Given the description of an element on the screen output the (x, y) to click on. 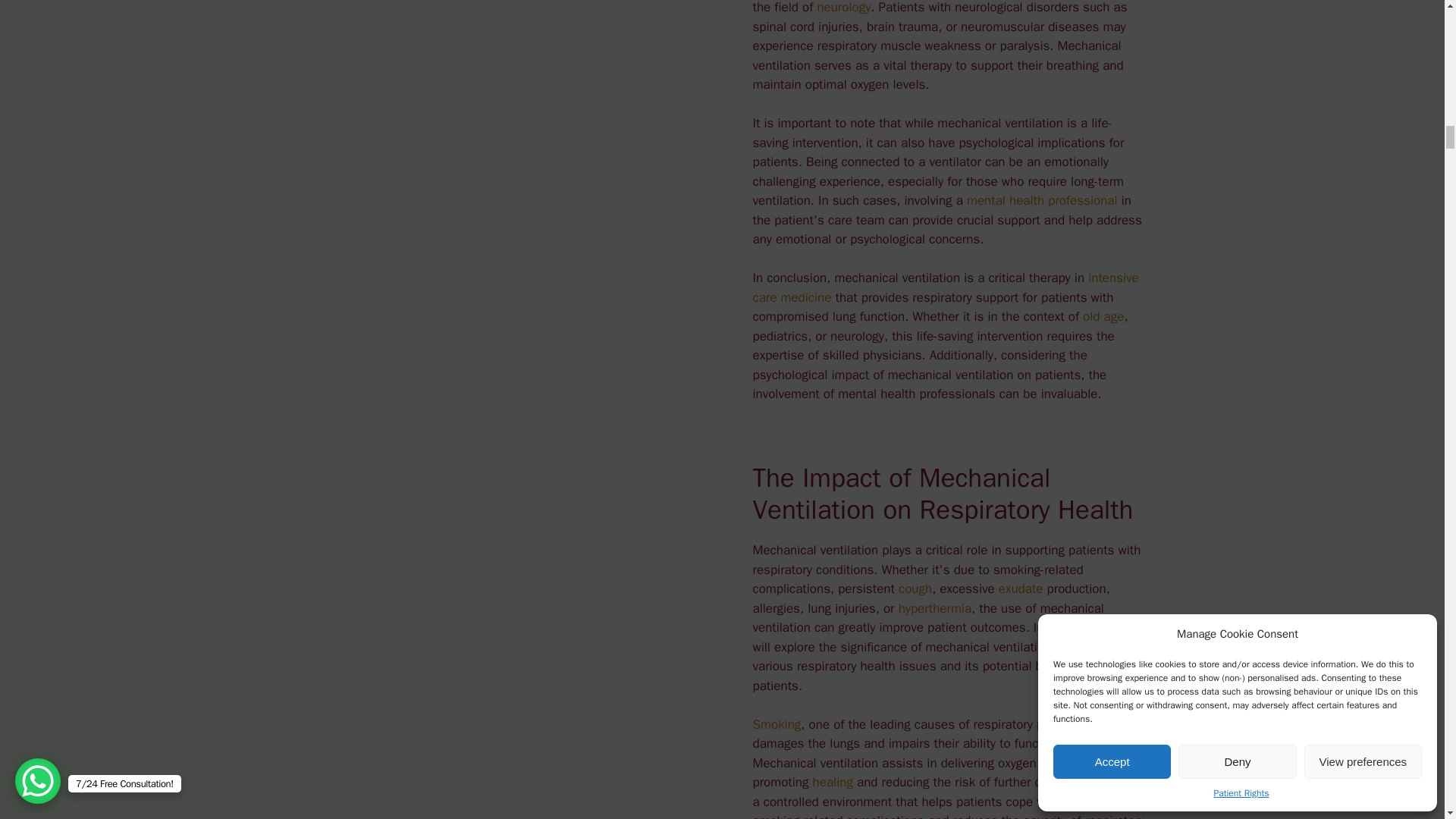
intensive care medicine (945, 287)
